Given the description of an element on the screen output the (x, y) to click on. 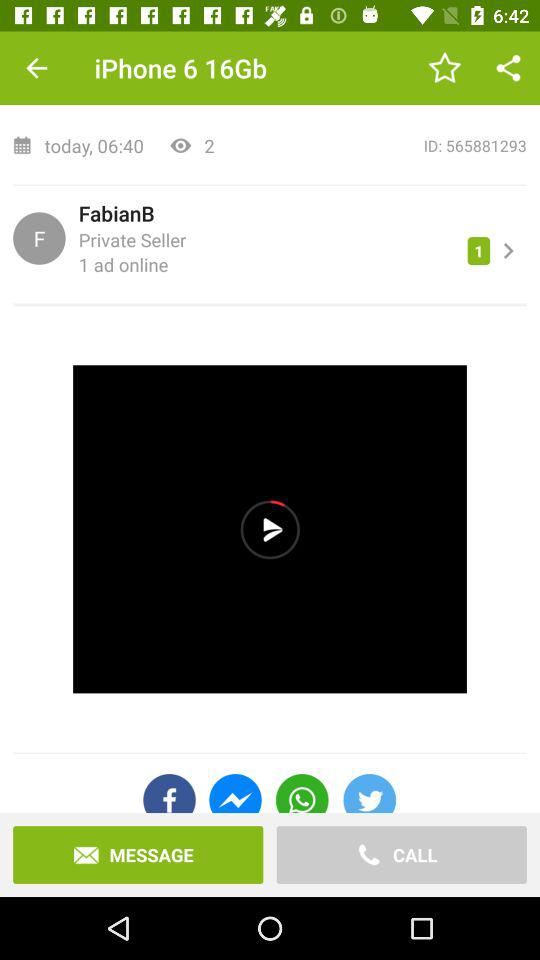
open the icon below the top zustand mit (377, 145)
